Given the description of an element on the screen output the (x, y) to click on. 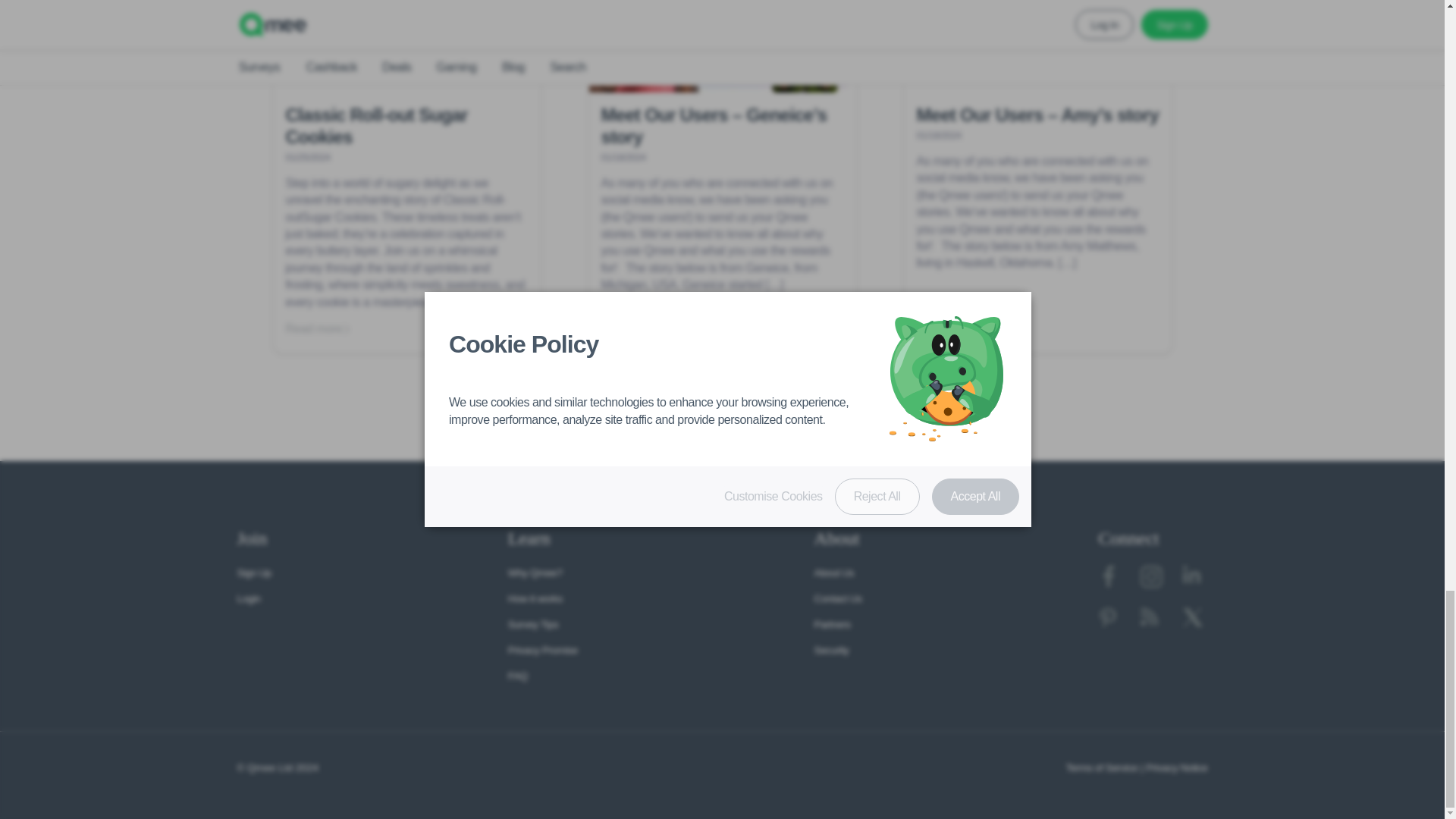
Survey Tips (533, 624)
Login (247, 598)
Contact Us (837, 598)
About Us (833, 572)
Privacy Promise (543, 650)
Read more (954, 328)
Read more (639, 328)
Read more (324, 328)
FAQ (517, 675)
Sign up for free and start earning (722, 437)
Partners (831, 624)
Sign Up (252, 572)
How it works (535, 598)
Why Qmee? (535, 572)
